Given the description of an element on the screen output the (x, y) to click on. 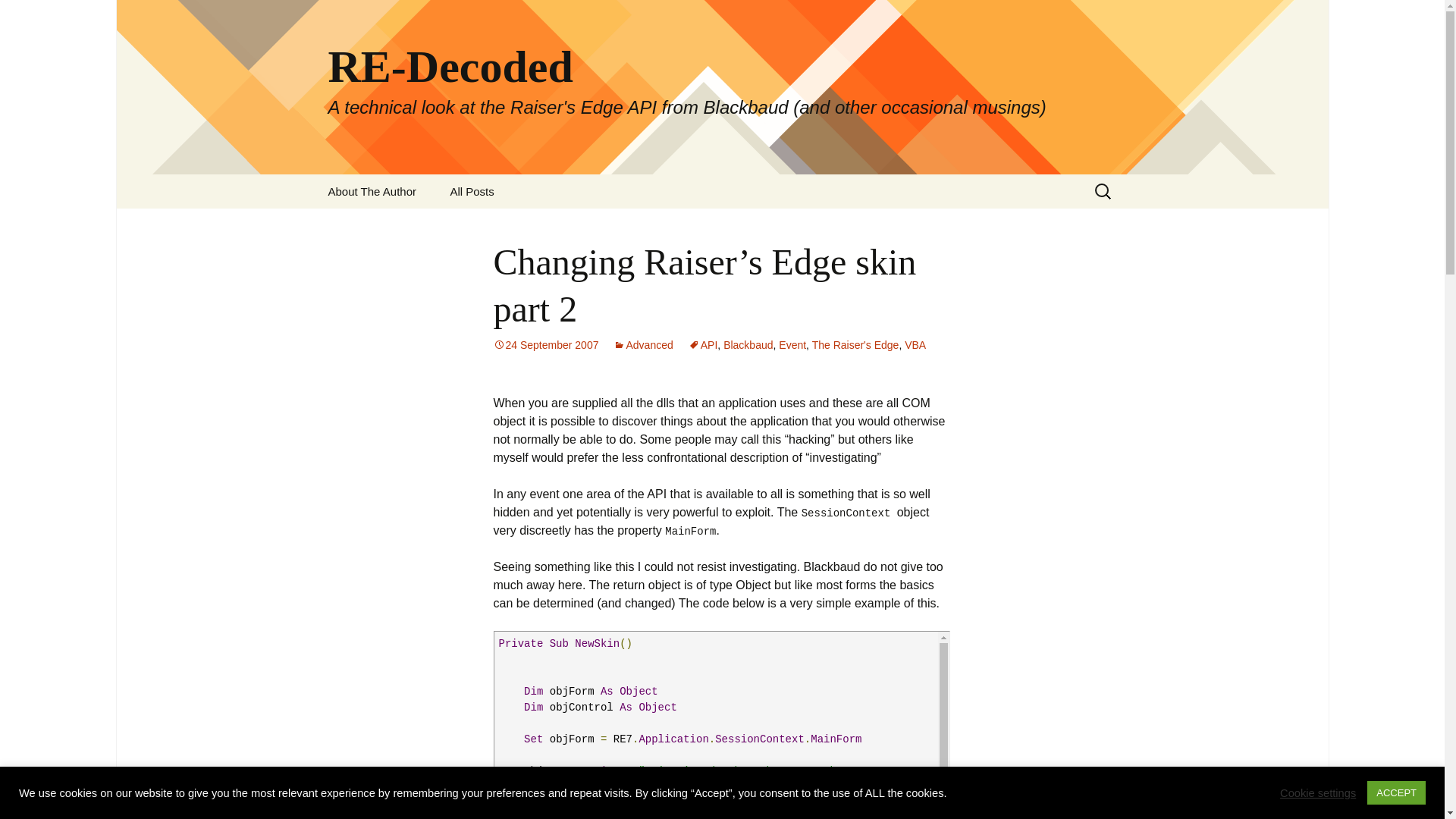
The Raiser's Edge (855, 345)
Event (792, 345)
API (702, 345)
All Posts (470, 191)
Search (18, 15)
Advanced (642, 345)
24 September 2007 (545, 345)
About The Author (371, 191)
Blackbaud (748, 345)
